Given the description of an element on the screen output the (x, y) to click on. 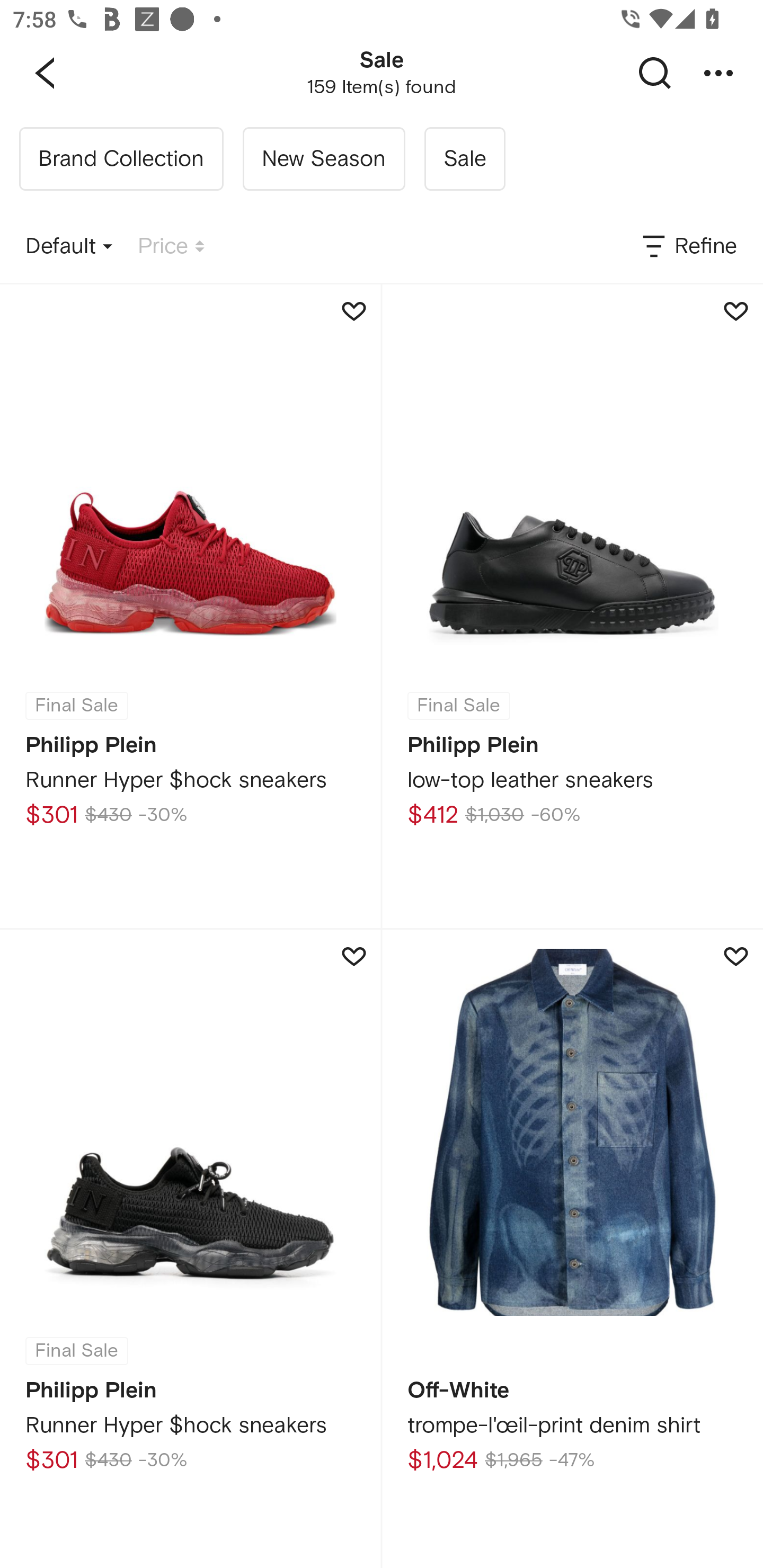
Brand Collection (121, 158)
New Season (323, 158)
Sale (464, 158)
Default (68, 246)
Price (171, 246)
Refine (688, 246)
